Given the description of an element on the screen output the (x, y) to click on. 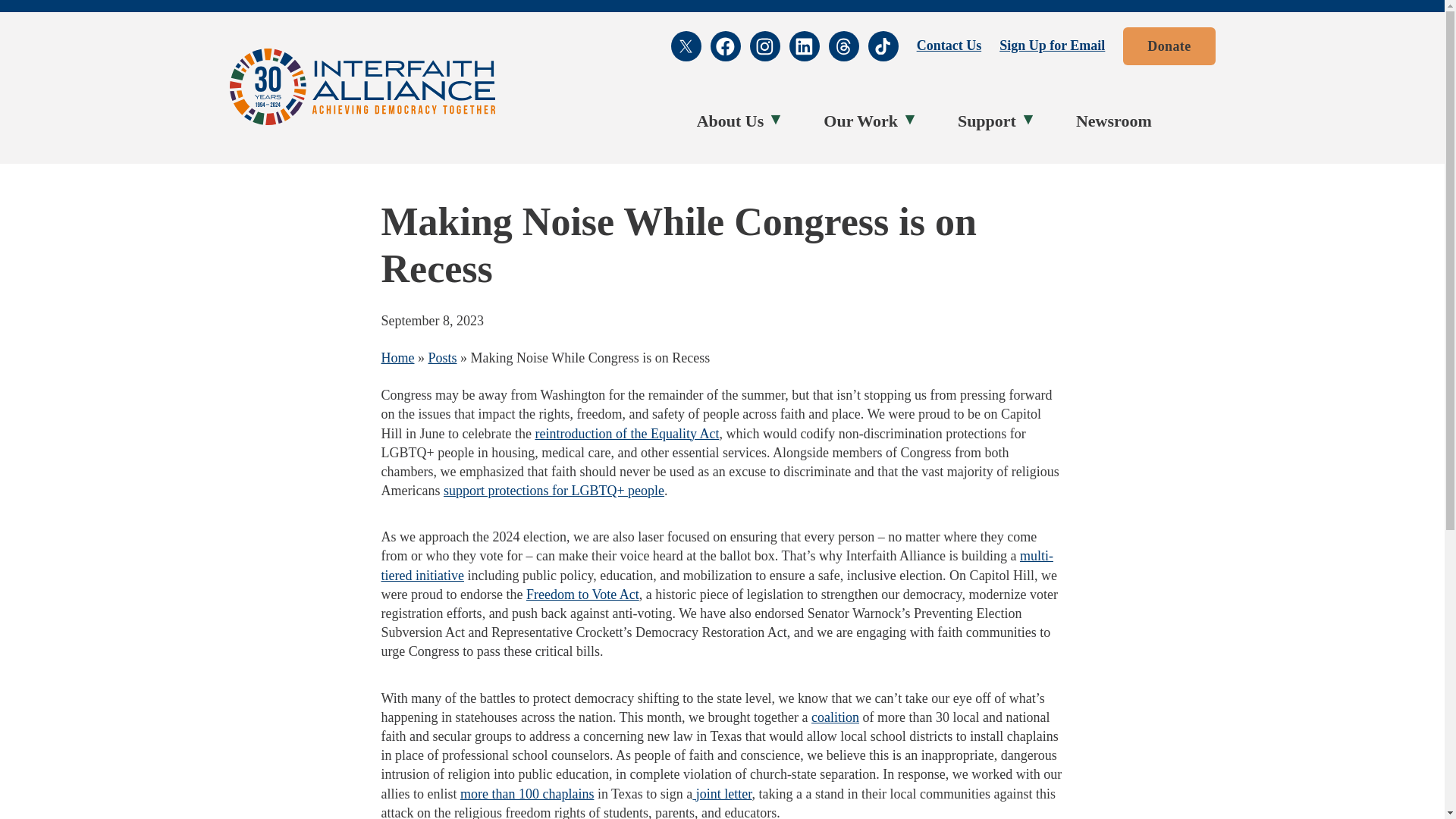
Sign Up for Email (1051, 45)
X (686, 46)
Facebook (725, 46)
Threads (843, 46)
TikTok (882, 46)
About Us (734, 121)
Instagram (764, 46)
Contact Us (949, 45)
Donate (1168, 46)
Our Work (864, 121)
